Given the description of an element on the screen output the (x, y) to click on. 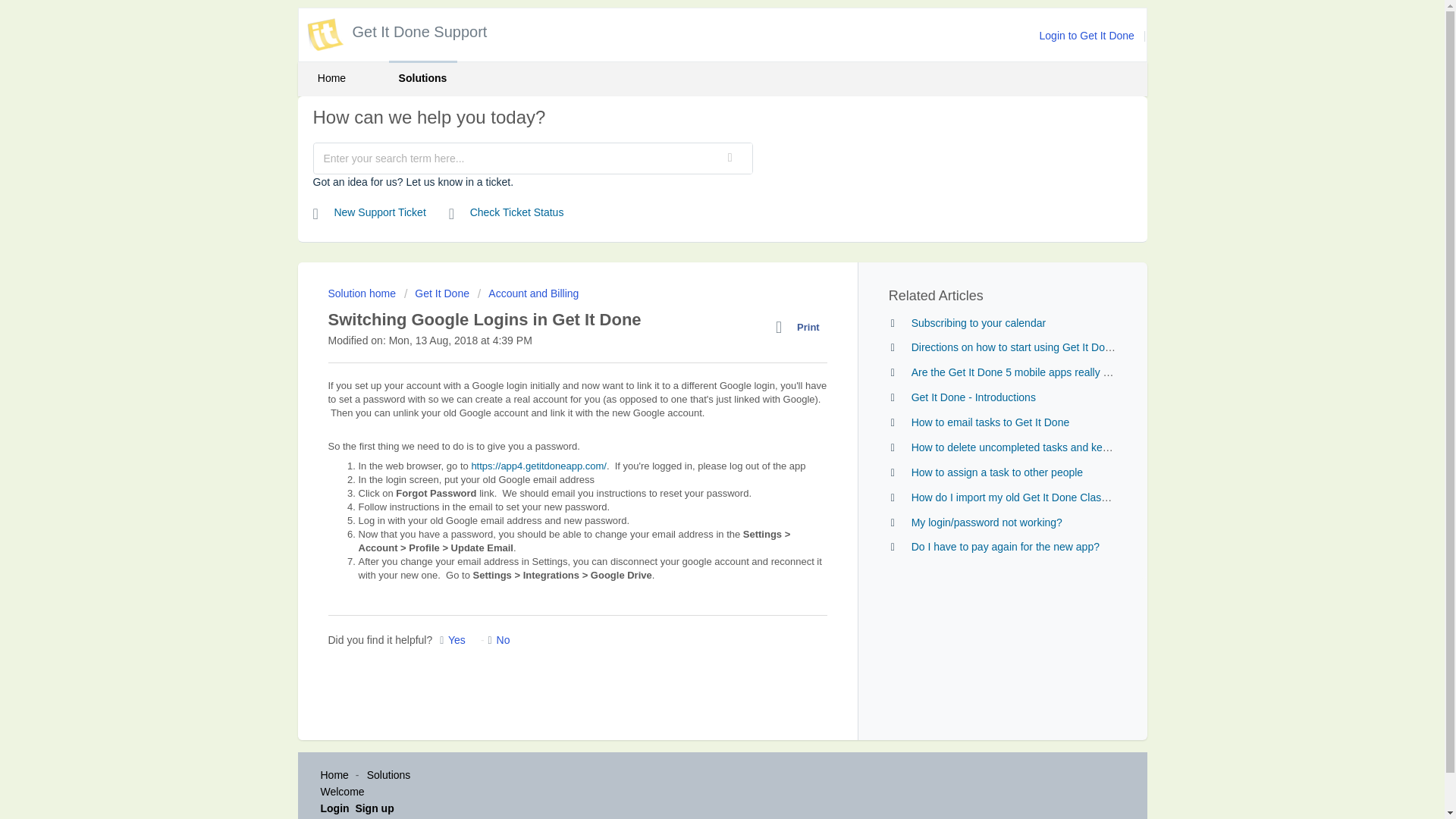
Solutions (422, 78)
New Support Ticket (369, 212)
Subscribing to your calendar (978, 322)
Directions on how to start using Get It Done 5 (1018, 346)
How to email tasks to Get It Done (990, 422)
Do I have to pay again for the new app? (1005, 546)
How to delete uncompleted tasks and keep only certain tasks (1055, 447)
Home (333, 775)
Solution home (362, 293)
